Given the description of an element on the screen output the (x, y) to click on. 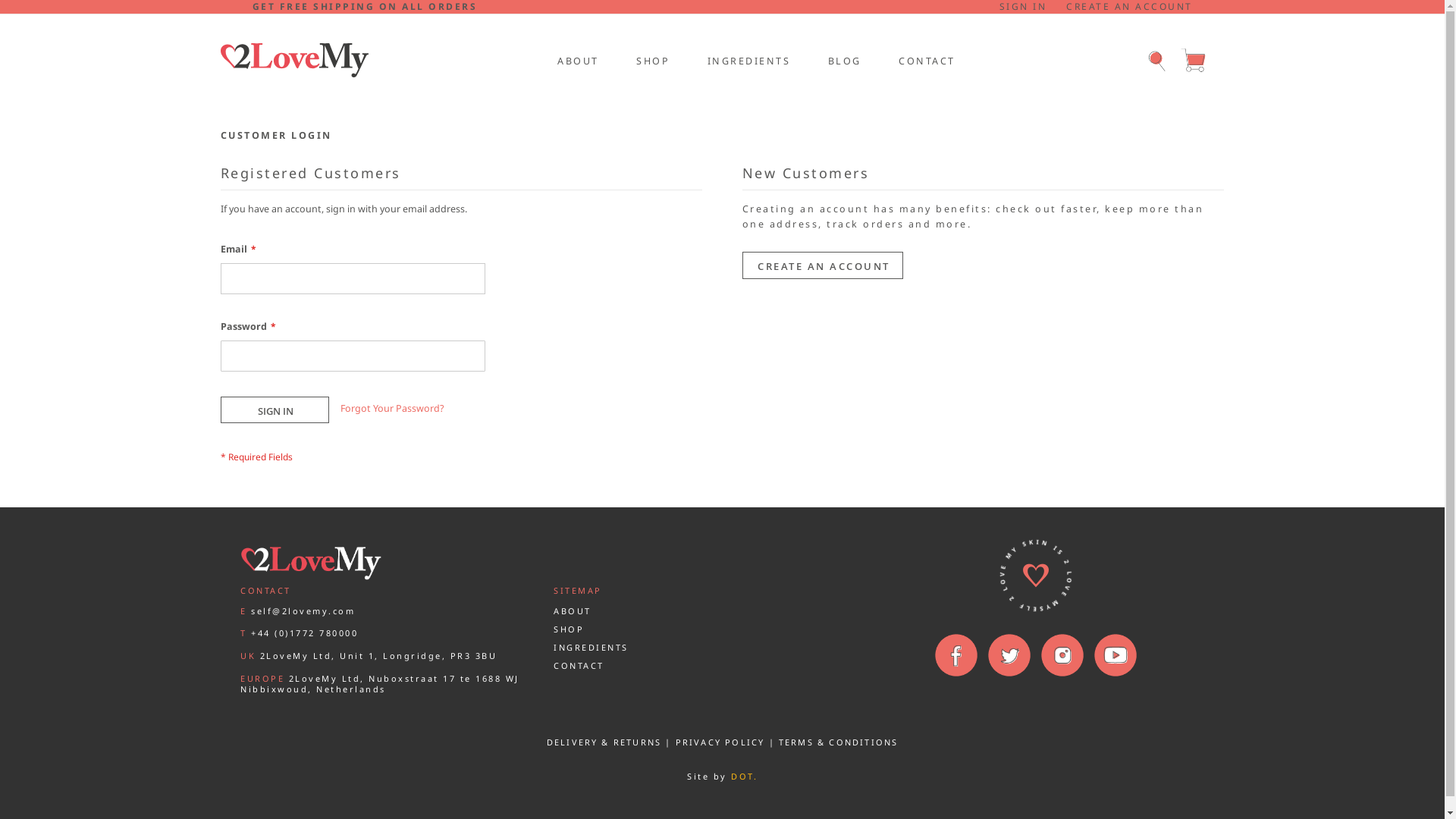
PRIVACY POLICY Element type: text (720, 741)
+44 (0)1772 780000 Element type: text (304, 632)
self@2lovemy.com Element type: text (302, 610)
CONTACT Element type: text (578, 665)
Email Element type: hover (352, 278)
Twitter Element type: text (1009, 654)
Site by DOT. Element type: text (722, 775)
ABOUT Element type: text (576, 59)
You Tube Element type: text (1115, 654)
INGREDIENTS Element type: text (590, 646)
SIGN IN Element type: text (274, 409)
INGREDIENTS Element type: text (746, 59)
Instagram Element type: text (1062, 654)
Facebook Element type: text (956, 654)
BLOG Element type: text (843, 59)
TERMS & CONDITIONS Element type: text (837, 741)
SHOP Element type: text (651, 59)
SIGN IN Element type: text (1023, 6)
Forgot Your Password? Element type: text (391, 408)
CREATE AN ACCOUNT Element type: text (822, 265)
SHOP Element type: text (568, 628)
ABOUT Element type: text (572, 610)
Password Element type: hover (352, 355)
CREATE AN ACCOUNT Element type: text (1129, 6)
DELIVERY & RETURNS Element type: text (603, 741)
CONTACT Element type: text (925, 59)
